Given the description of an element on the screen output the (x, y) to click on. 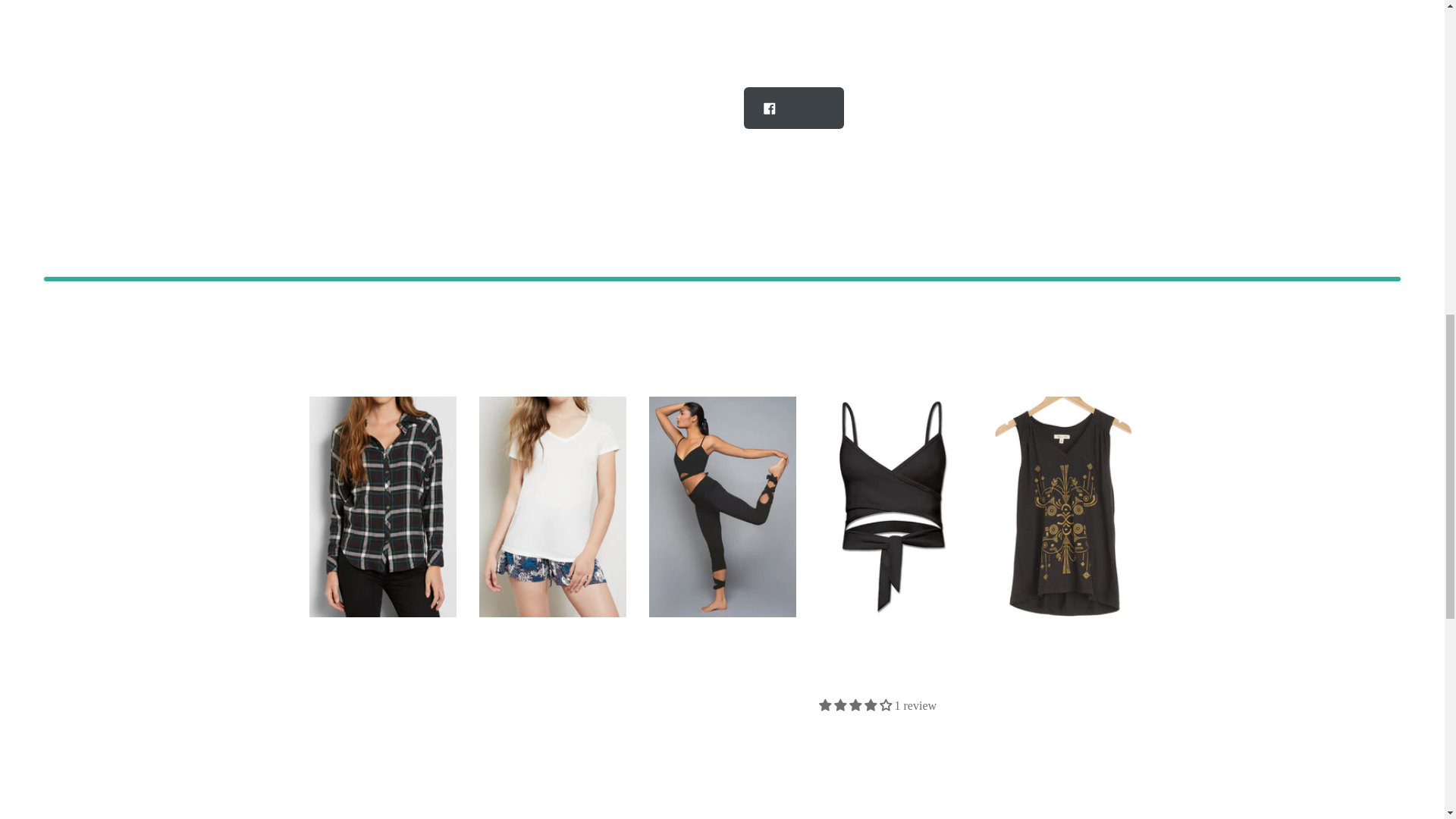
Share on Facebook (794, 107)
